Given the description of an element on the screen output the (x, y) to click on. 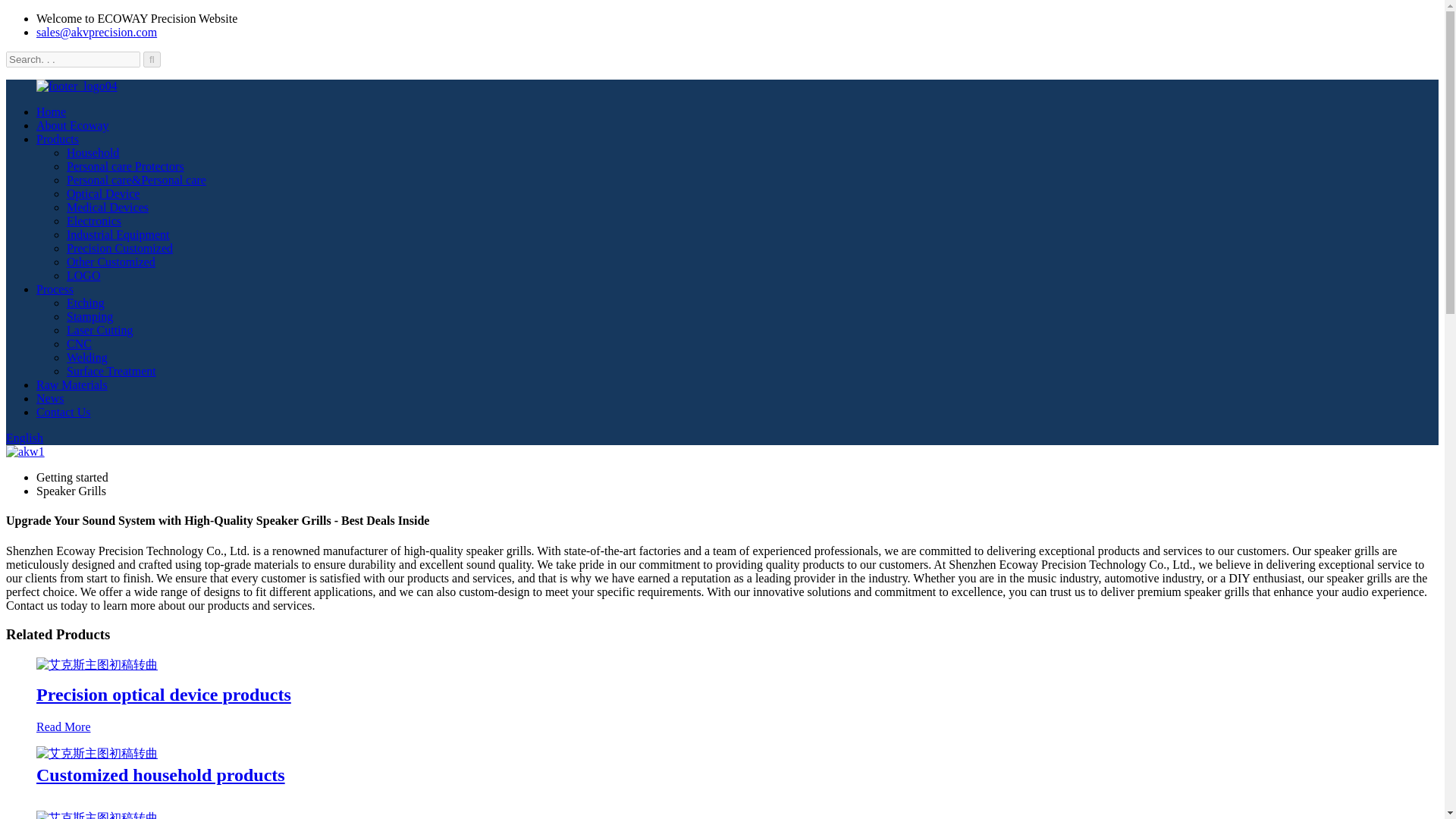
Industrial Equipment (118, 234)
Laser Cutting (99, 329)
Etching (85, 302)
Medical Devices (107, 206)
Raw Materials (71, 384)
Precision optical device products (163, 694)
CNC (78, 343)
Home (50, 111)
Products (57, 138)
English (24, 437)
Read More (63, 726)
Electronics (93, 220)
Optical Device (102, 193)
Precision optical device products (63, 726)
Contact Us (63, 411)
